Given the description of an element on the screen output the (x, y) to click on. 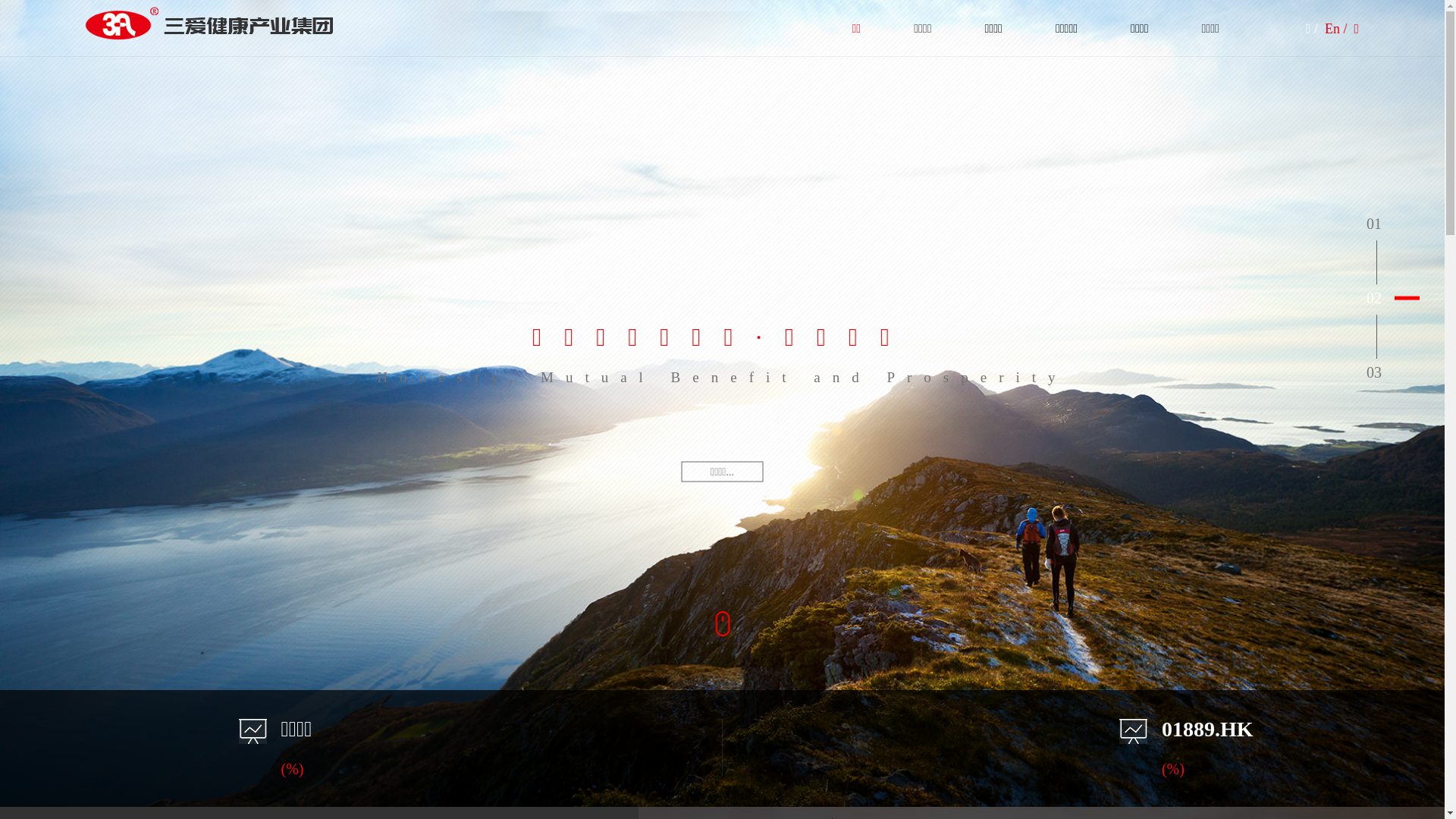
En /  Element type: text (1337, 28)
